Given the description of an element on the screen output the (x, y) to click on. 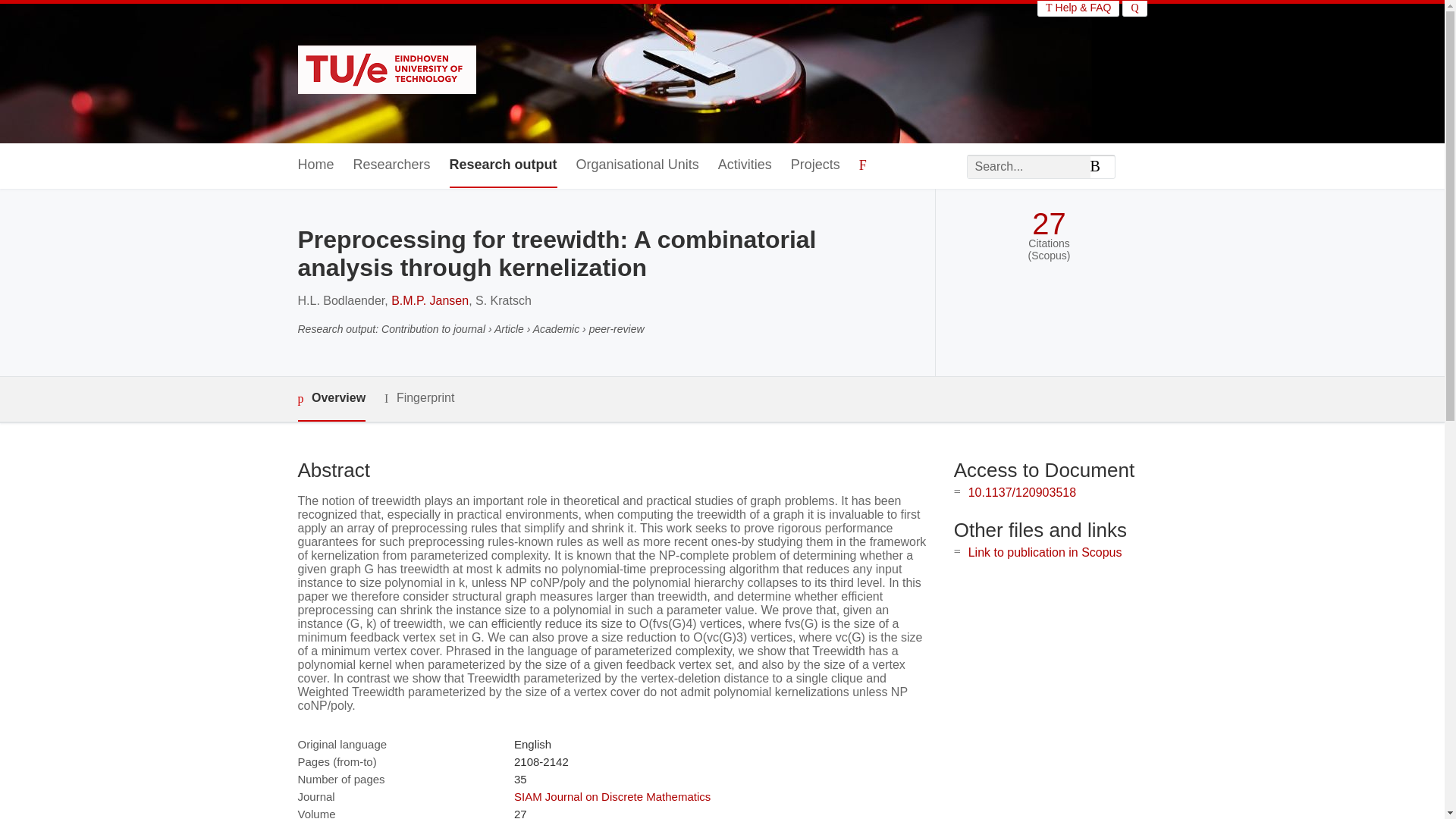
Organisational Units (637, 165)
Link to publication in Scopus (1045, 552)
Researchers (391, 165)
Overview (331, 398)
Activities (744, 165)
Projects (815, 165)
27 (1048, 223)
B.M.P. Jansen (429, 300)
Research output (503, 165)
Eindhoven University of Technology research portal Home (386, 71)
